Given the description of an element on the screen output the (x, y) to click on. 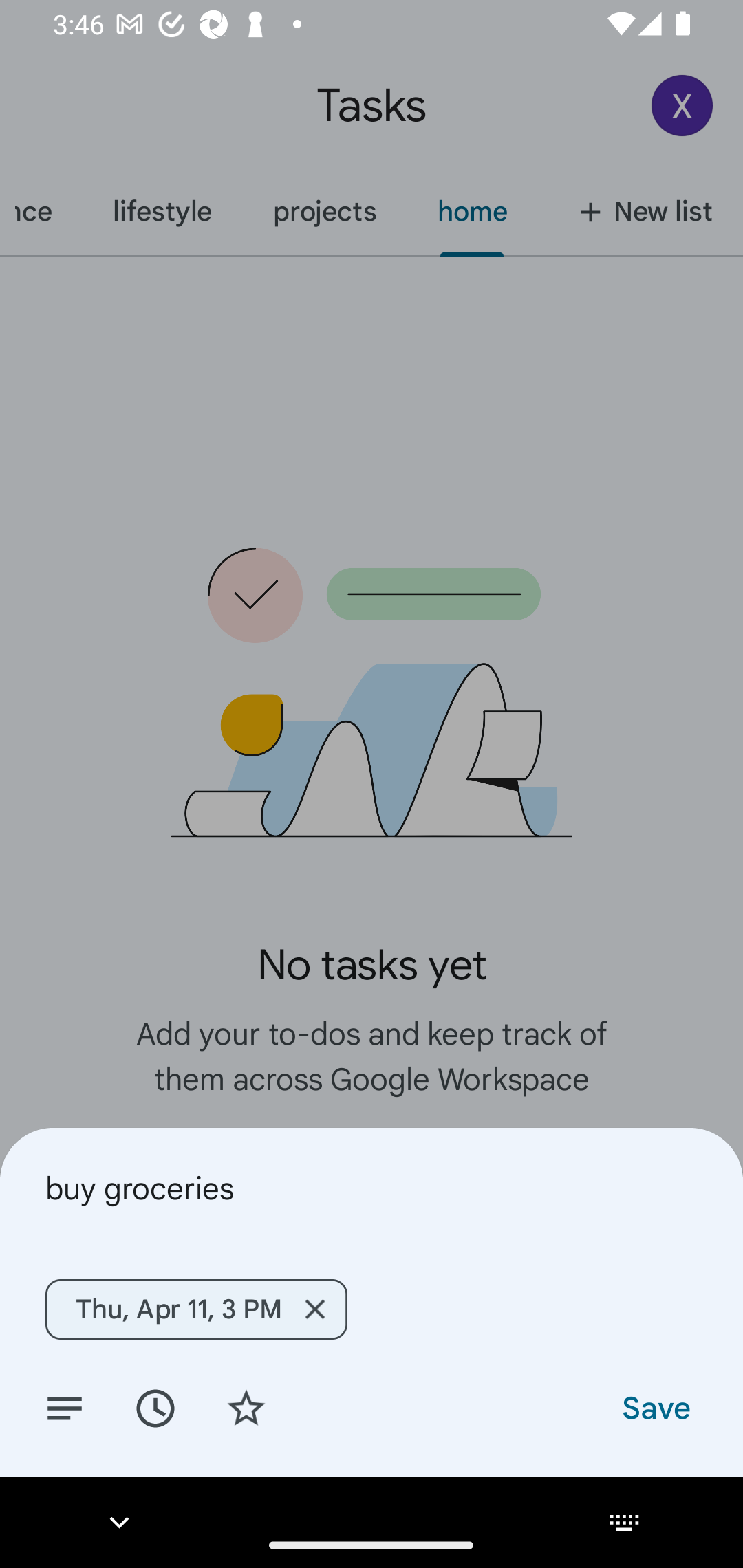
buy groceries (371, 1188)
Thu, Apr 11, 3 PM Remove Thu, Apr 11, 3 PM (196, 1308)
Save (655, 1407)
Add details (64, 1407)
Set date/time (154, 1407)
Add star (245, 1407)
